Given the description of an element on the screen output the (x, y) to click on. 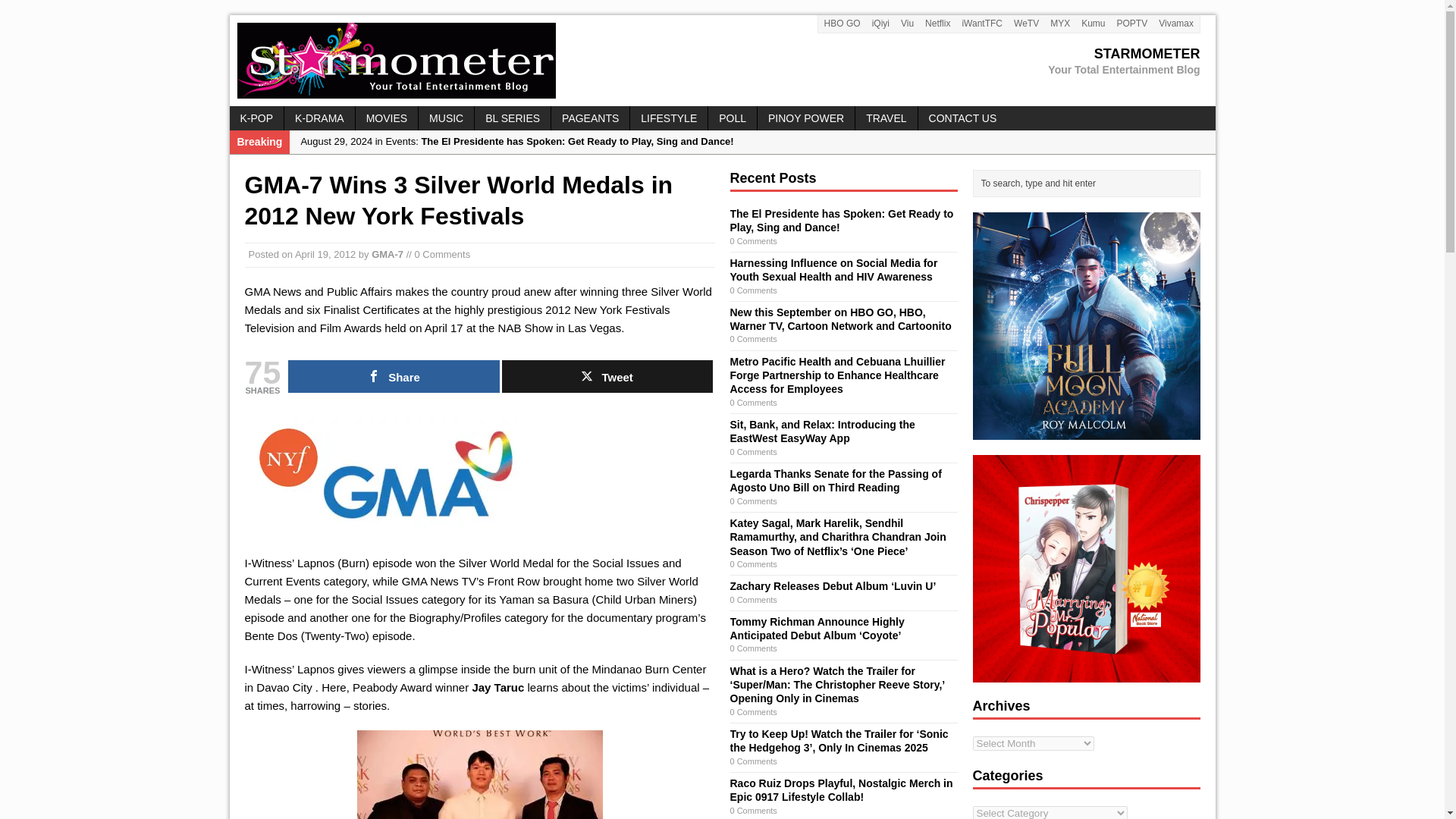
Netflix (938, 23)
Share (393, 376)
HBO GO (842, 23)
K-DRAMA (319, 118)
Tweet (607, 376)
jaytaruc (479, 774)
BL SERIES (721, 60)
Vivamax (512, 118)
Kumu (1176, 23)
